Given the description of an element on the screen output the (x, y) to click on. 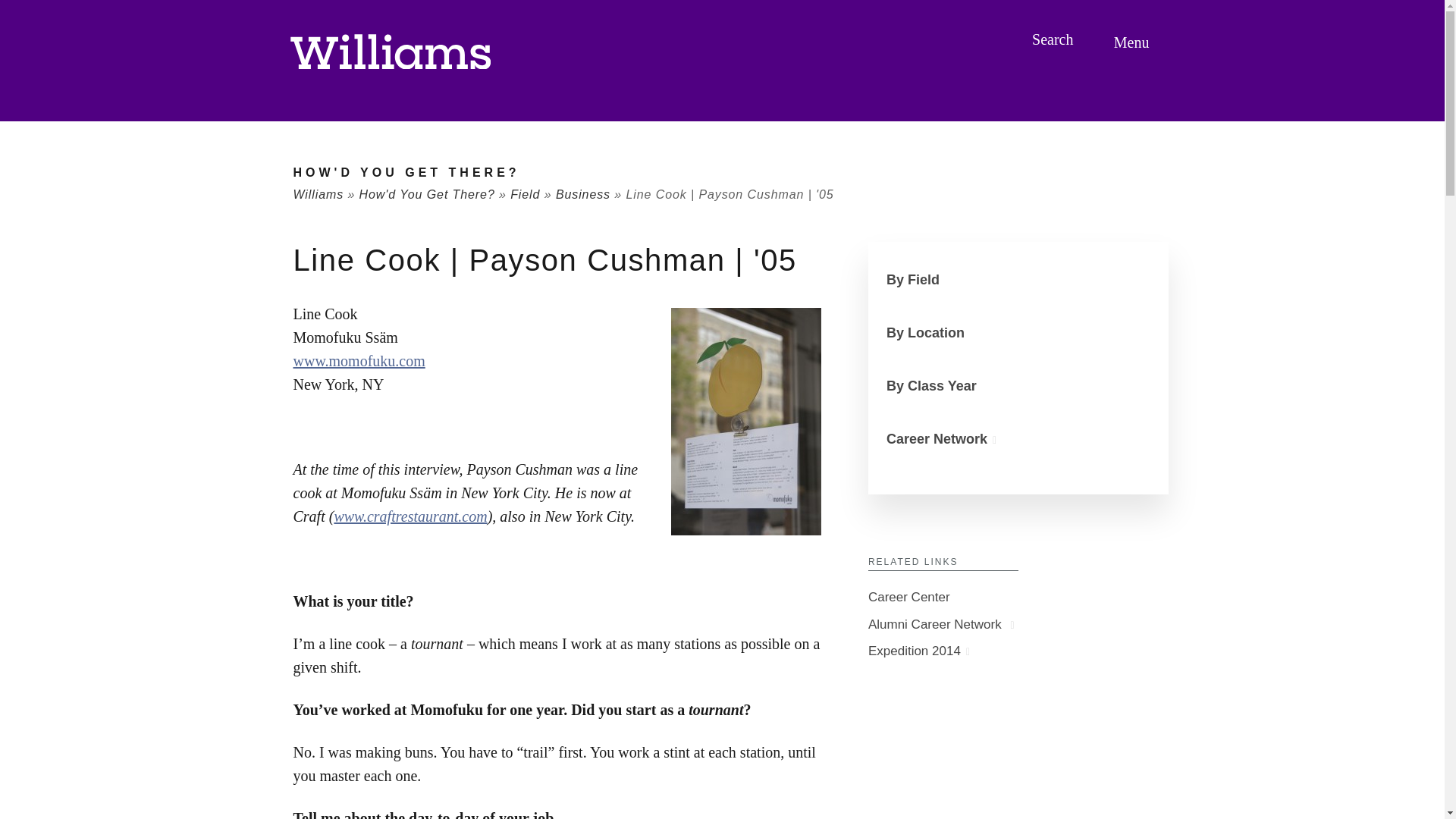
Search (1054, 38)
Go to Williams College Home (389, 51)
Menu (1134, 41)
Go to How'd You Get There? (405, 173)
Go (13, 12)
